Given the description of an element on the screen output the (x, y) to click on. 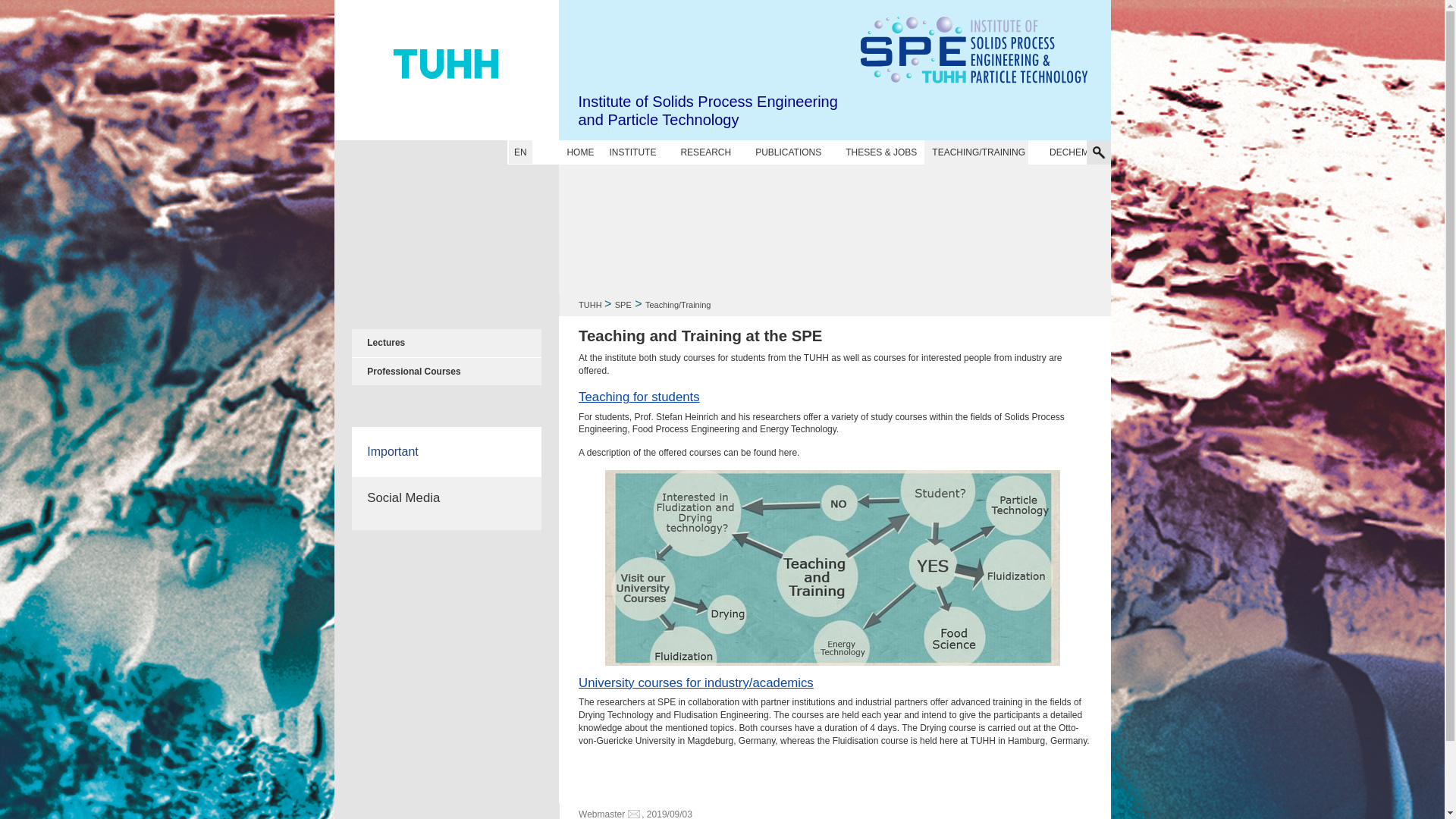
show search form (1097, 152)
HOME (580, 152)
search (1046, 113)
INSTITUTE (632, 152)
TUHH Website (446, 70)
